Given the description of an element on the screen output the (x, y) to click on. 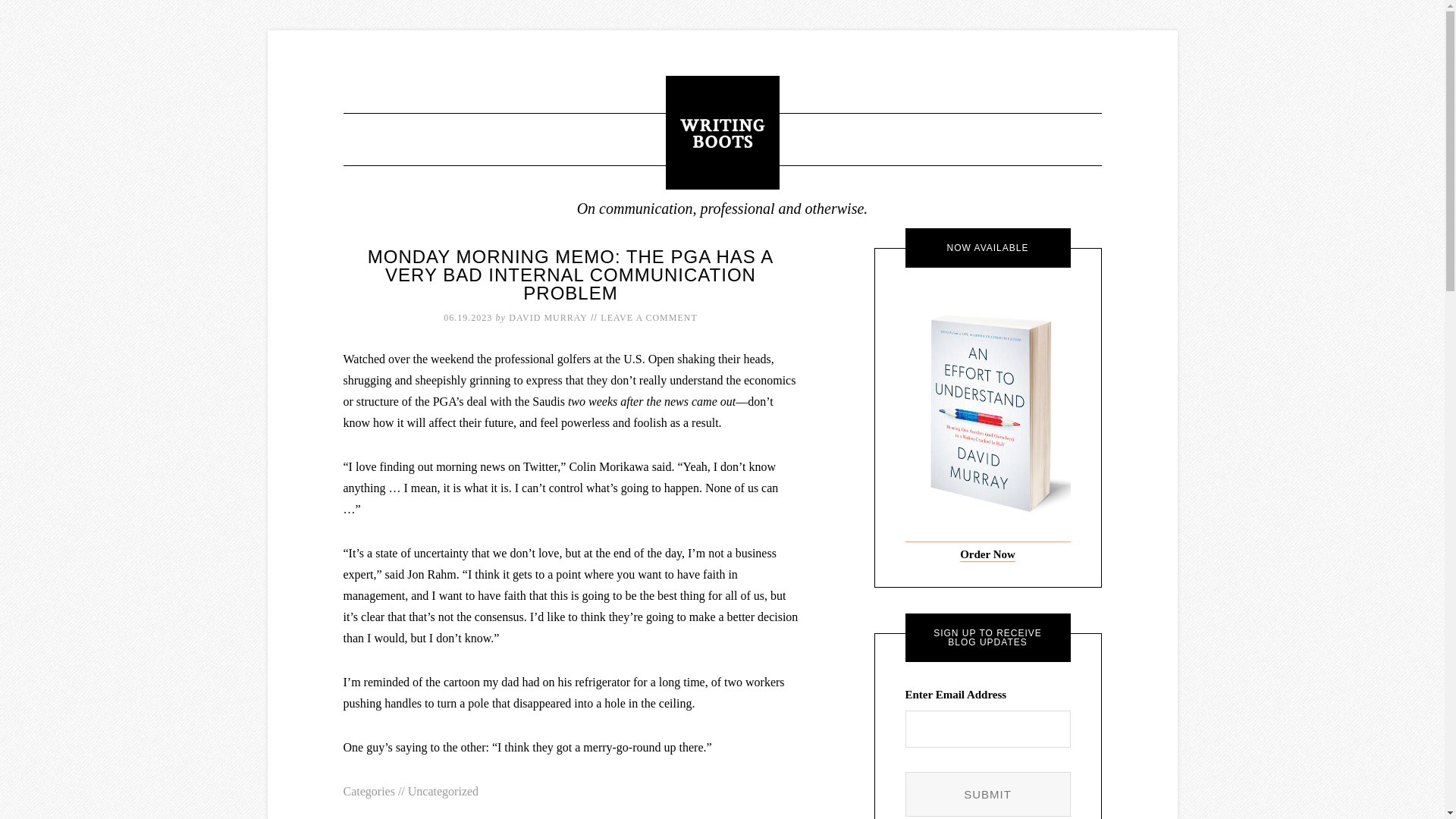
Order Now (986, 554)
LEAVE A COMMENT (648, 317)
An Effort to Understand (986, 554)
WRITING BOOTS (721, 132)
DAVID MURRAY (548, 317)
Submit (987, 794)
Submit (987, 794)
An Effort to Understand (987, 535)
Uncategorized (443, 790)
